Given the description of an element on the screen output the (x, y) to click on. 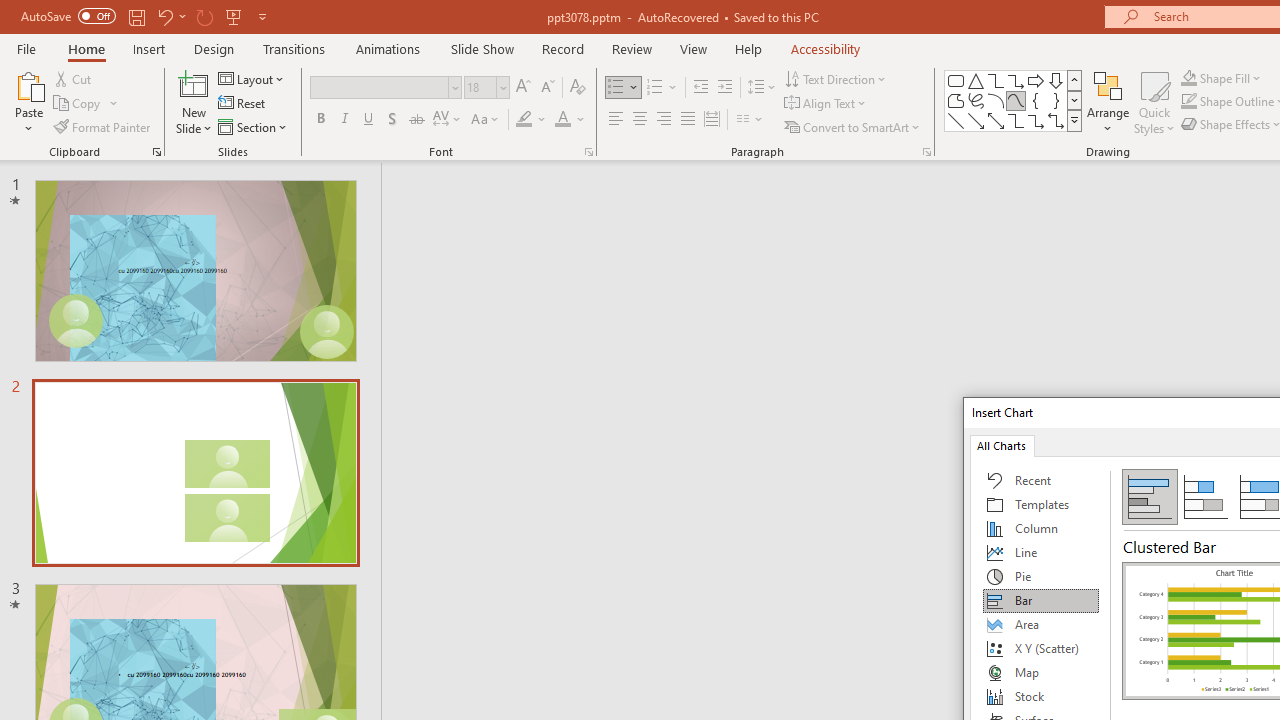
Stock (1041, 696)
